Given the description of an element on the screen output the (x, y) to click on. 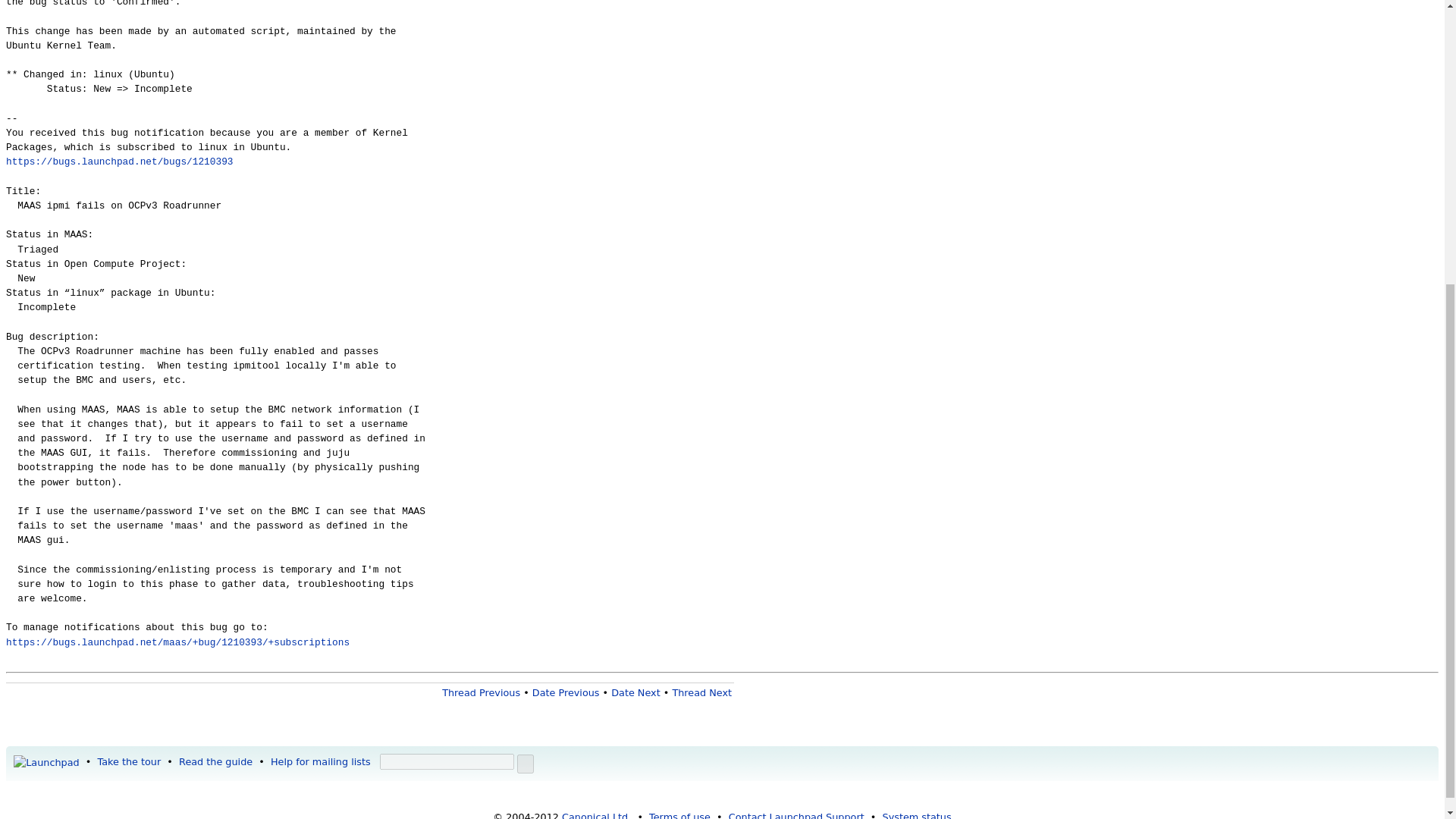
Read the guide (215, 761)
Thread Previous (480, 692)
Date Next (635, 692)
Help for mailing lists (320, 761)
Thread Next (701, 692)
Date Previous (565, 692)
Take the tour (128, 761)
